Given the description of an element on the screen output the (x, y) to click on. 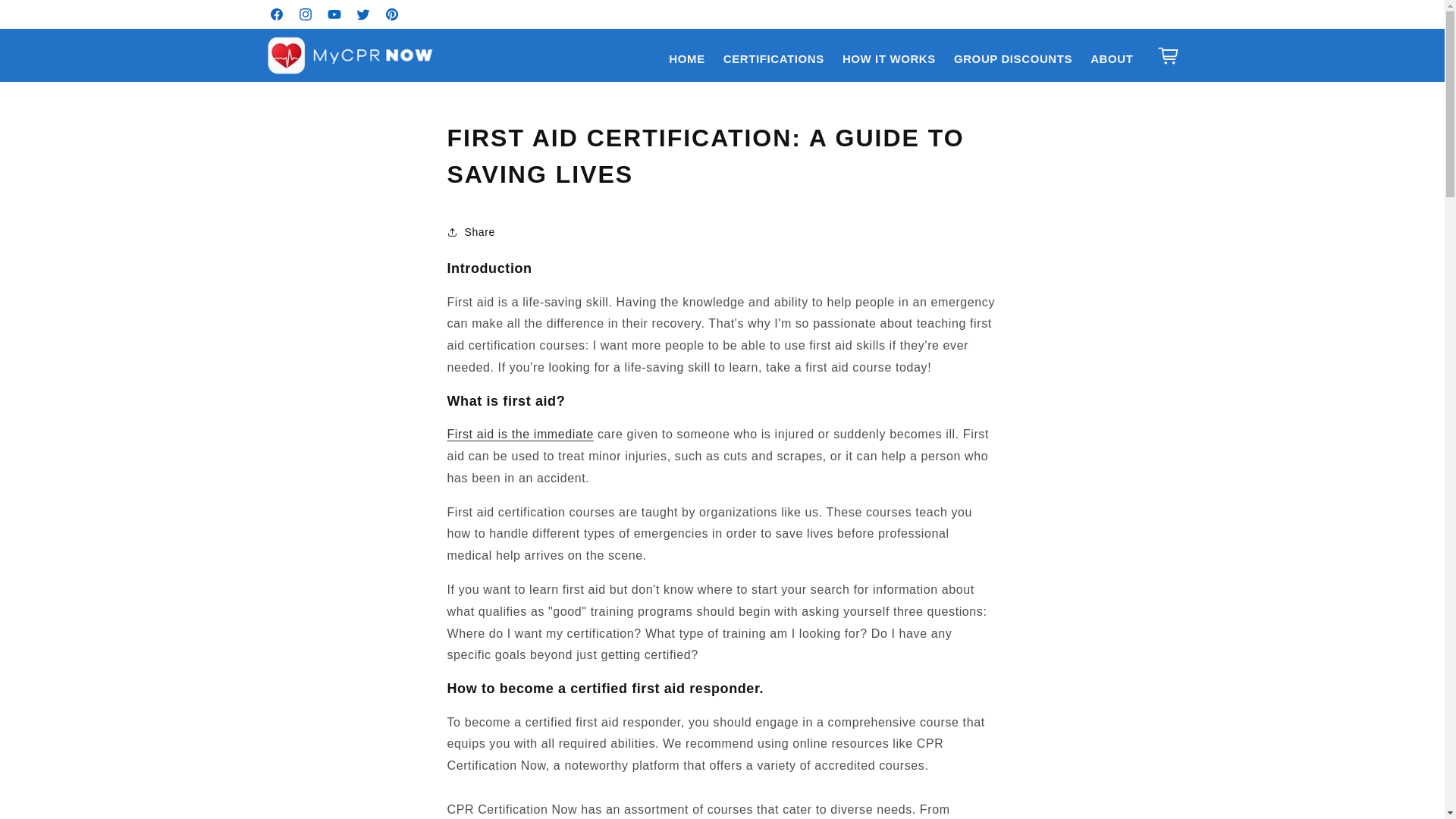
YouTube (334, 14)
Skip to content (45, 17)
Cart (1168, 55)
Twitter (363, 14)
Instagram (305, 14)
CERTIFICATIONS (773, 59)
HOW IT WORKS (888, 59)
Facebook (276, 14)
GROUP DISCOUNTS (1012, 59)
ABOUT (1111, 59)
